Given the description of an element on the screen output the (x, y) to click on. 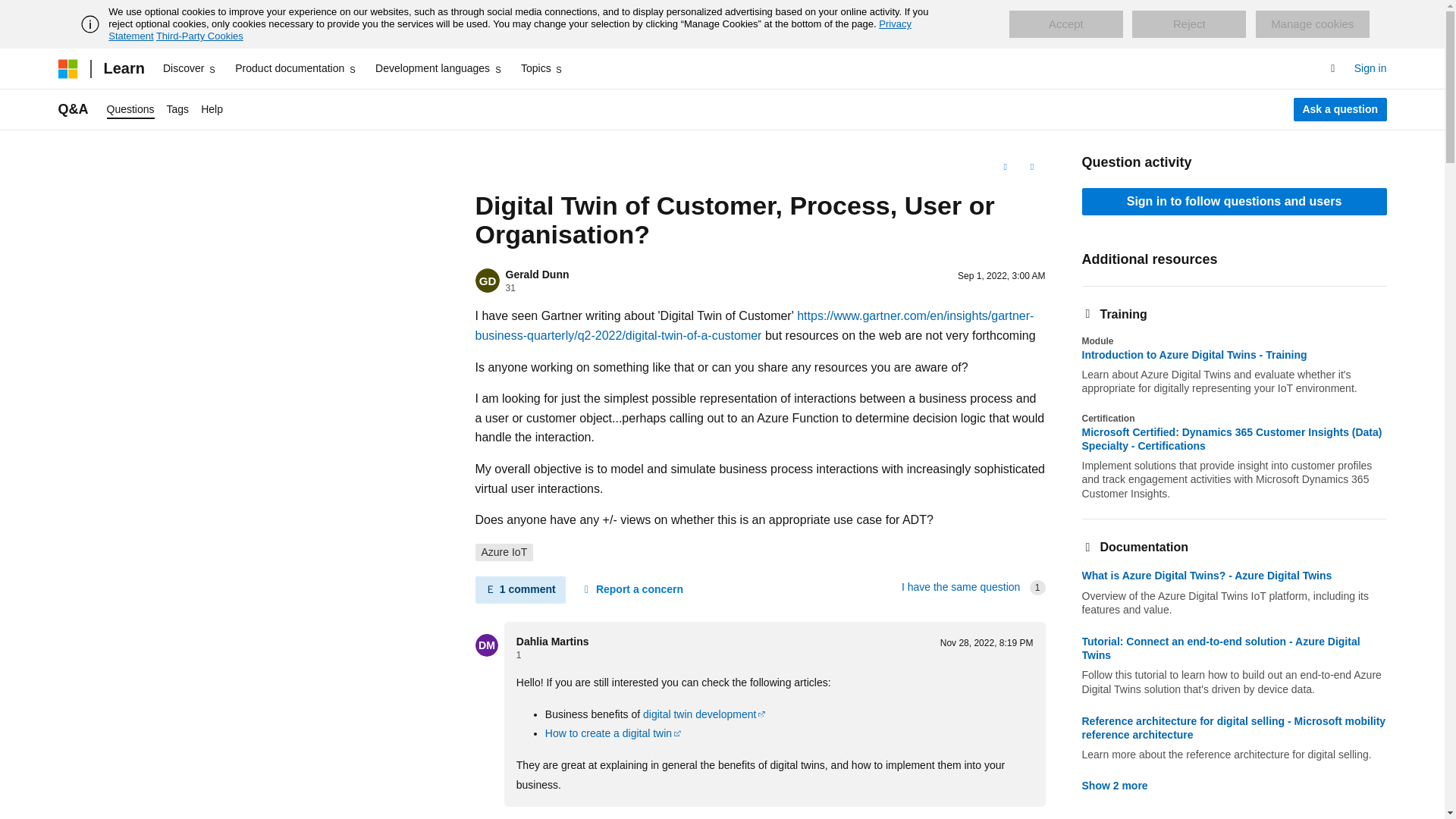
This comment is helpful (538, 816)
Sign in (1370, 68)
Reject (1189, 23)
Topics (542, 68)
Report a concern (632, 589)
Hide comments for this question (519, 589)
Privacy Statement (509, 29)
Product documentation (295, 68)
Manage cookies (1312, 23)
Questions (130, 109)
Skip to main content (11, 11)
Development languages (438, 68)
Accept (1065, 23)
Ask a question (1340, 109)
Discover (189, 68)
